Given the description of an element on the screen output the (x, y) to click on. 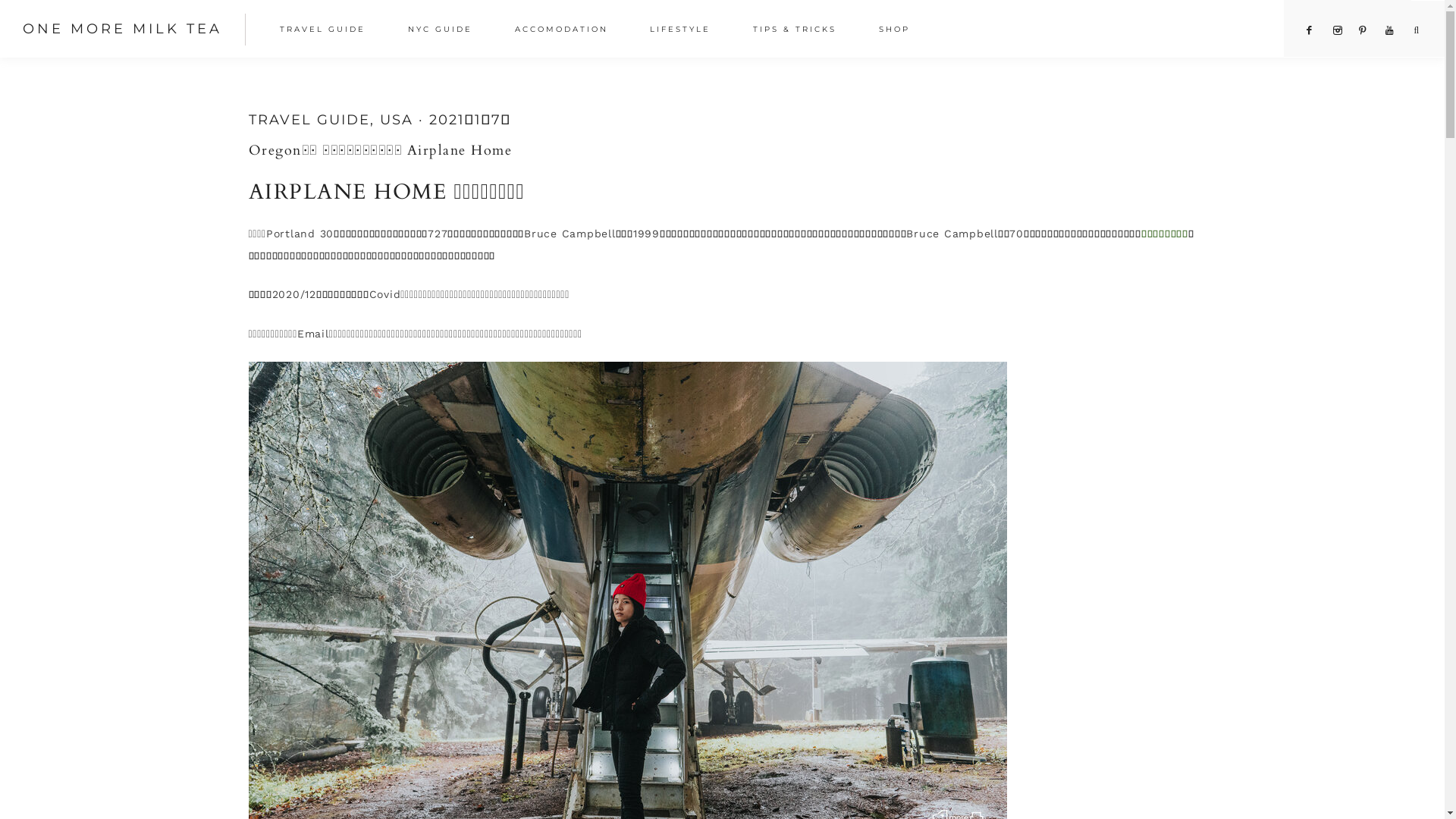
Instagram Element type: hover (1337, 30)
TIPS & TRICKS Element type: text (798, 31)
USA Element type: text (395, 119)
LIFESTYLE Element type: text (683, 31)
Youtube Element type: hover (1389, 30)
ACCOMODATION Element type: text (564, 31)
NYC GUIDE Element type: text (443, 31)
ONE MORE MILK TEA Element type: text (122, 28)
TRAVEL GUIDE Element type: text (326, 31)
SHOP Element type: text (897, 31)
TRAVEL GUIDE Element type: text (309, 119)
Facebook Element type: hover (1310, 30)
Pinterest Element type: hover (1363, 30)
